Given the description of an element on the screen output the (x, y) to click on. 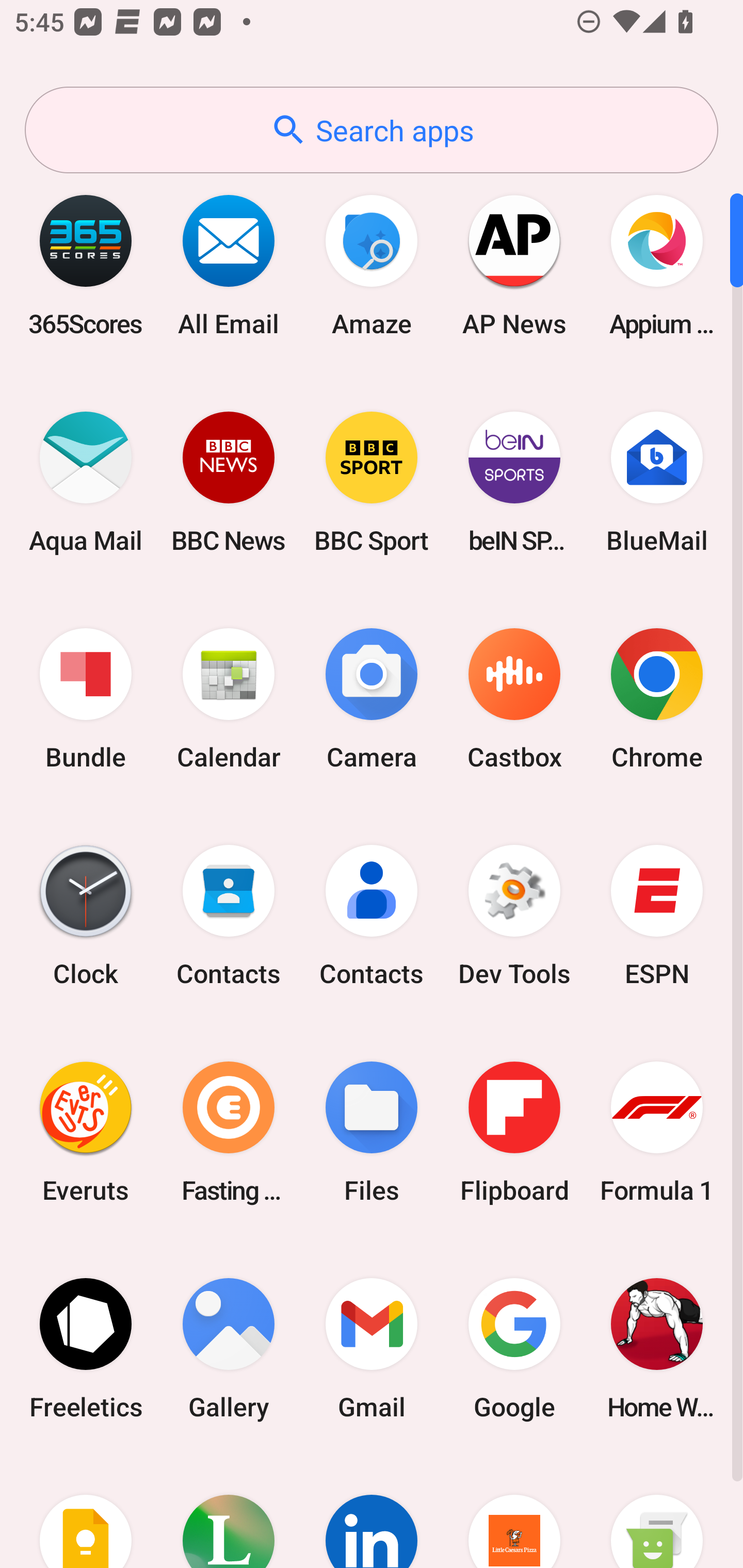
  Search apps (371, 130)
365Scores (85, 264)
All Email (228, 264)
Amaze (371, 264)
AP News (514, 264)
Appium Settings (656, 264)
Aqua Mail (85, 482)
BBC News (228, 482)
BBC Sport (371, 482)
beIN SPORTS (514, 482)
BlueMail (656, 482)
Bundle (85, 699)
Calendar (228, 699)
Camera (371, 699)
Castbox (514, 699)
Chrome (656, 699)
Clock (85, 915)
Contacts (228, 915)
Contacts (371, 915)
Dev Tools (514, 915)
ESPN (656, 915)
Everuts (85, 1131)
Fasting Coach (228, 1131)
Files (371, 1131)
Flipboard (514, 1131)
Formula 1 (656, 1131)
Freeletics (85, 1348)
Gallery (228, 1348)
Gmail (371, 1348)
Google (514, 1348)
Home Workout (656, 1348)
Keep Notes (85, 1512)
Lifesum (228, 1512)
LinkedIn (371, 1512)
Little Caesars Pizza (514, 1512)
Messaging (656, 1512)
